Given the description of an element on the screen output the (x, y) to click on. 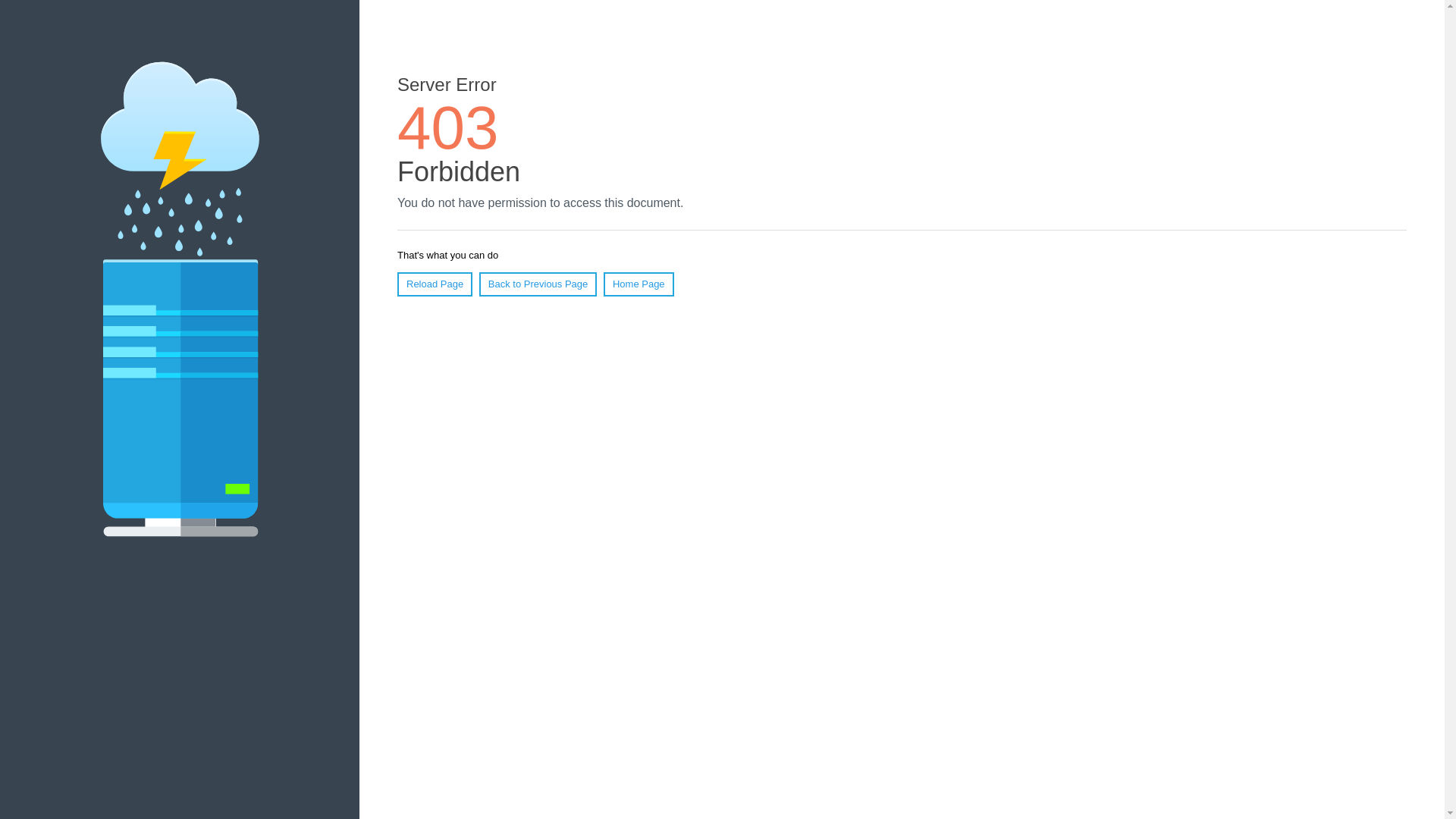
Reload Page (434, 283)
Home Page (639, 283)
Back to Previous Page (537, 283)
